Given the description of an element on the screen output the (x, y) to click on. 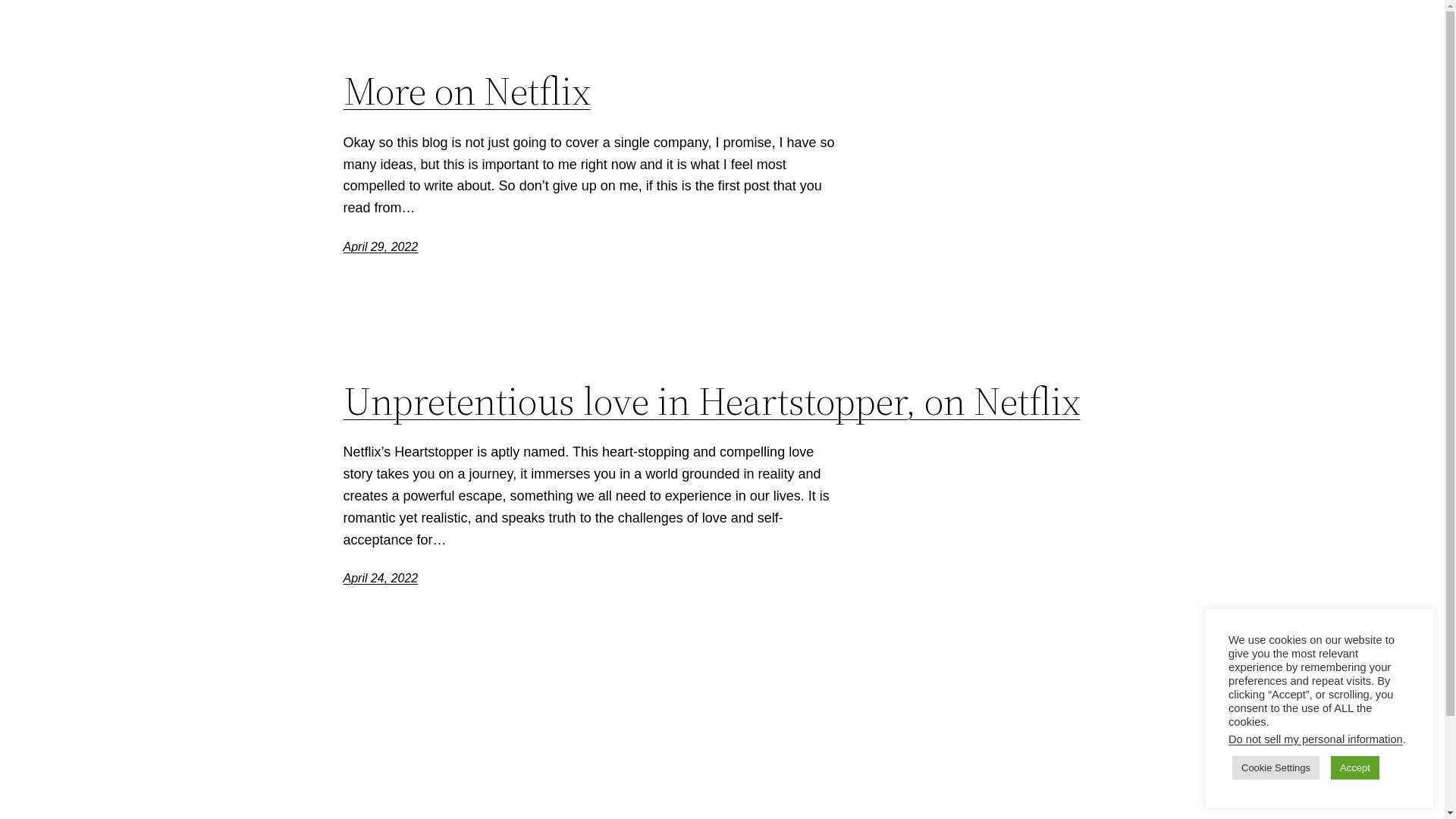
Cookie Settings Element type: text (1275, 767)
Do not sell my personal information Element type: text (1315, 739)
More on Netflix Element type: text (465, 90)
April 24, 2022 Element type: text (379, 577)
April 29, 2022 Element type: text (379, 246)
Accept Element type: text (1354, 767)
Unpretentious love in Heartstopper, on Netflix Element type: text (710, 400)
